Given the description of an element on the screen output the (x, y) to click on. 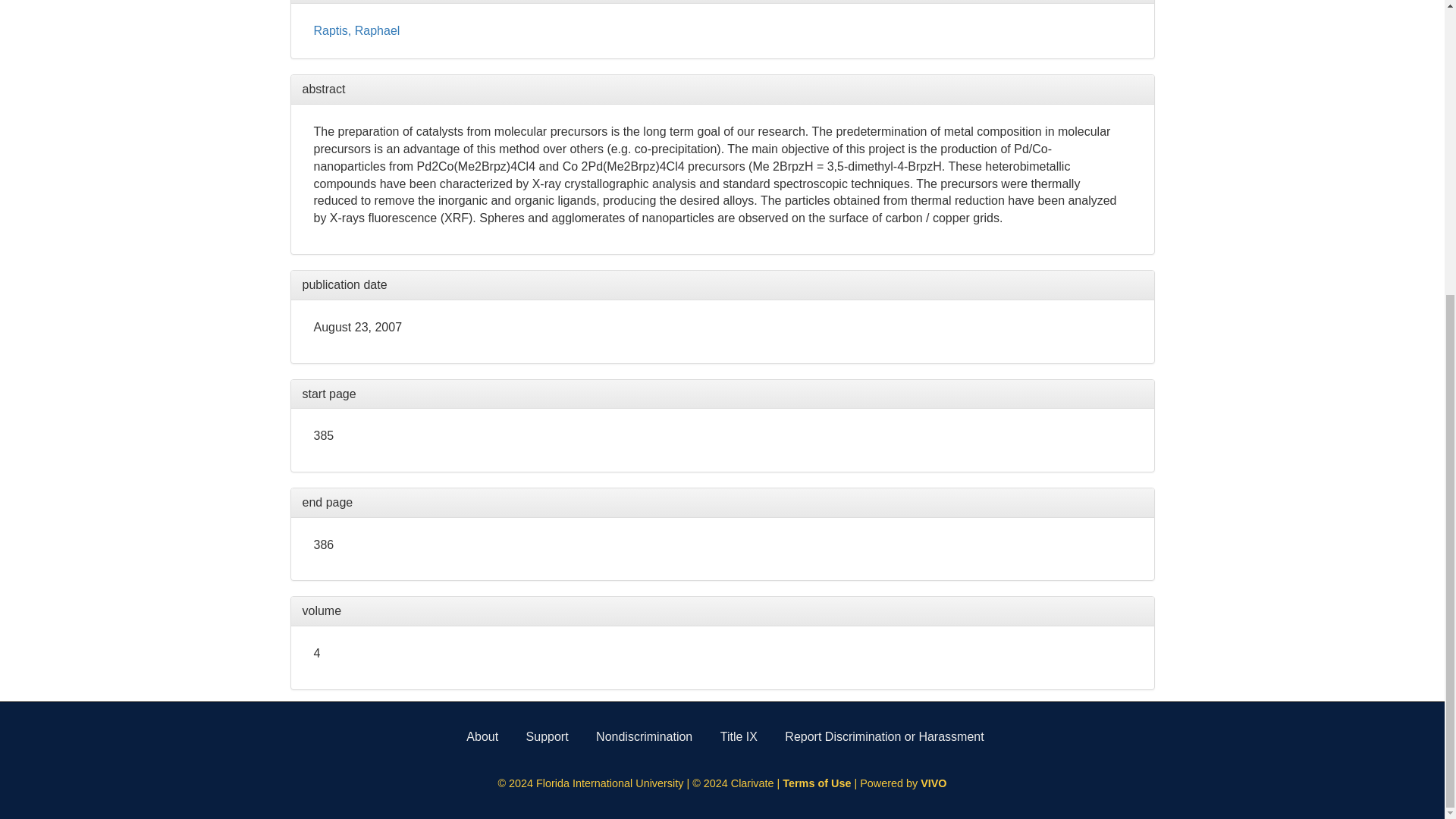
Support (547, 736)
Title IX (738, 736)
Nondiscrimination (644, 736)
VIVO (933, 783)
Report Discrimination or Harassment (884, 736)
Terms of Use (818, 783)
About (481, 736)
Nondiscrimination (644, 736)
Raptis, Raphael (357, 30)
About (481, 736)
